Given the description of an element on the screen output the (x, y) to click on. 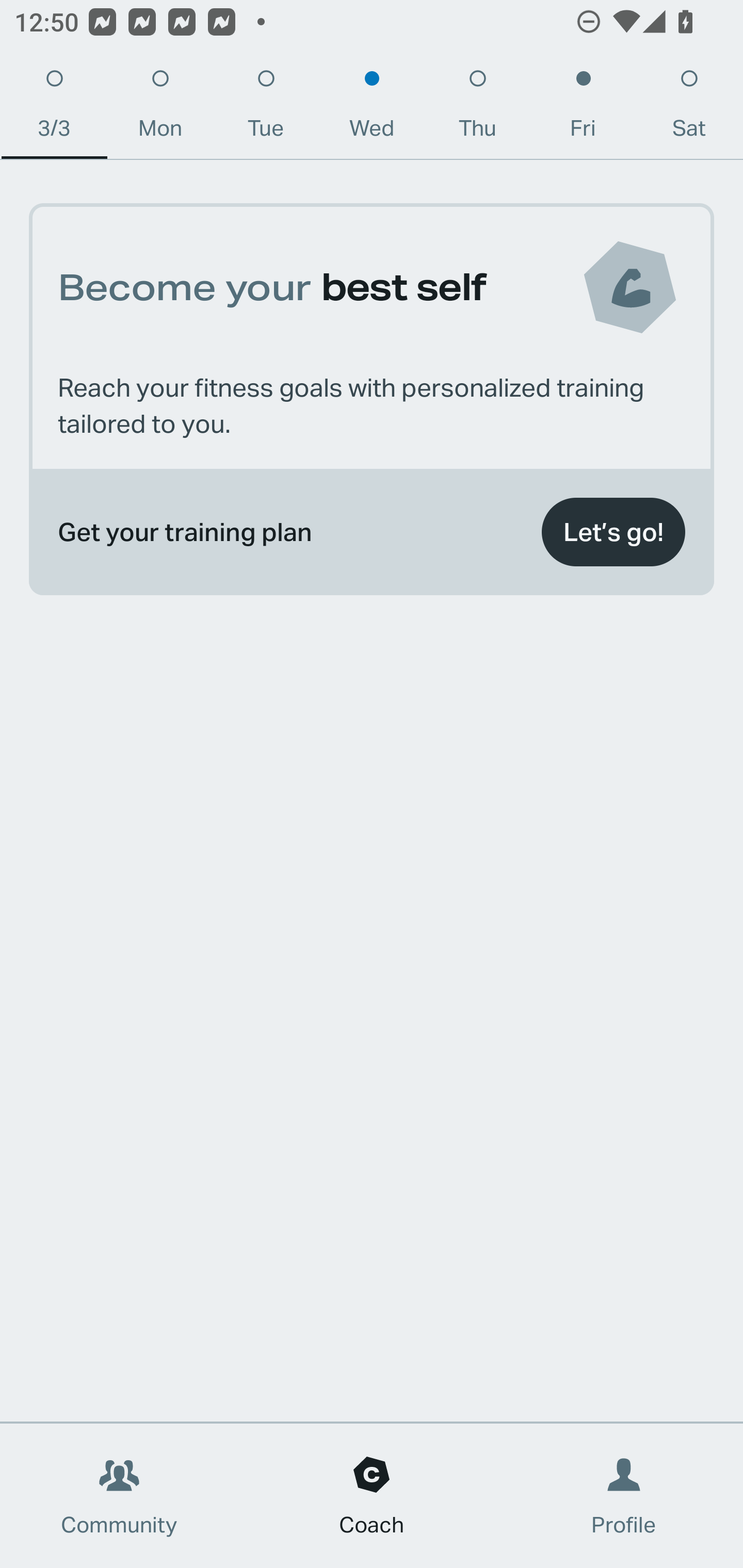
3/3 (53, 108)
Mon (159, 108)
Tue (265, 108)
Wed (371, 108)
Thu (477, 108)
Fri (583, 108)
Sat (689, 108)
Let’s go! (613, 532)
Community (119, 1495)
Profile (624, 1495)
